Given the description of an element on the screen output the (x, y) to click on. 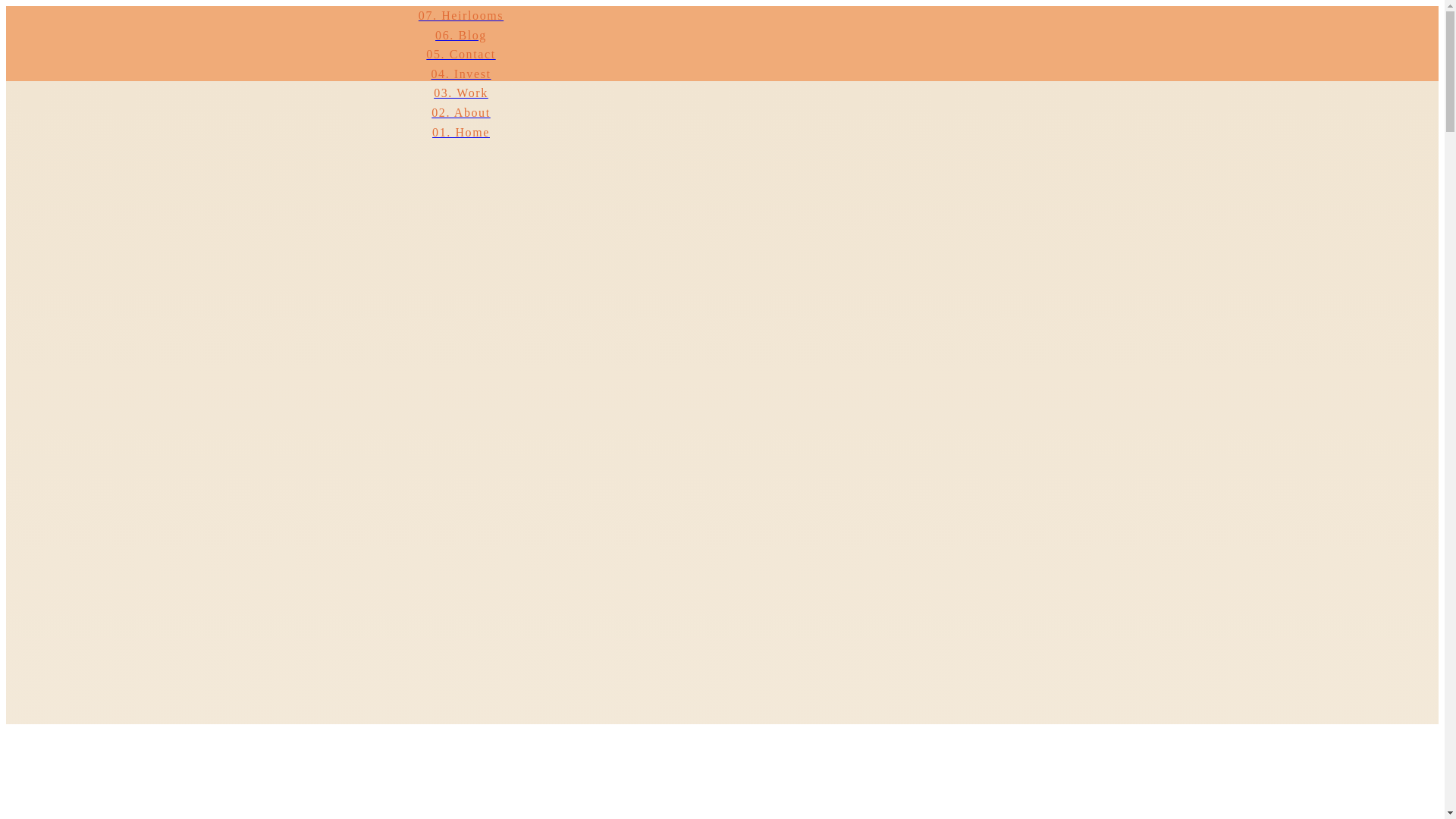
04. Invest (460, 74)
01. Home (460, 132)
06. Blog (460, 35)
03. Work (460, 93)
02. About (460, 112)
07. Heirlooms (460, 15)
05. Contact (460, 54)
